Given the description of an element on the screen output the (x, y) to click on. 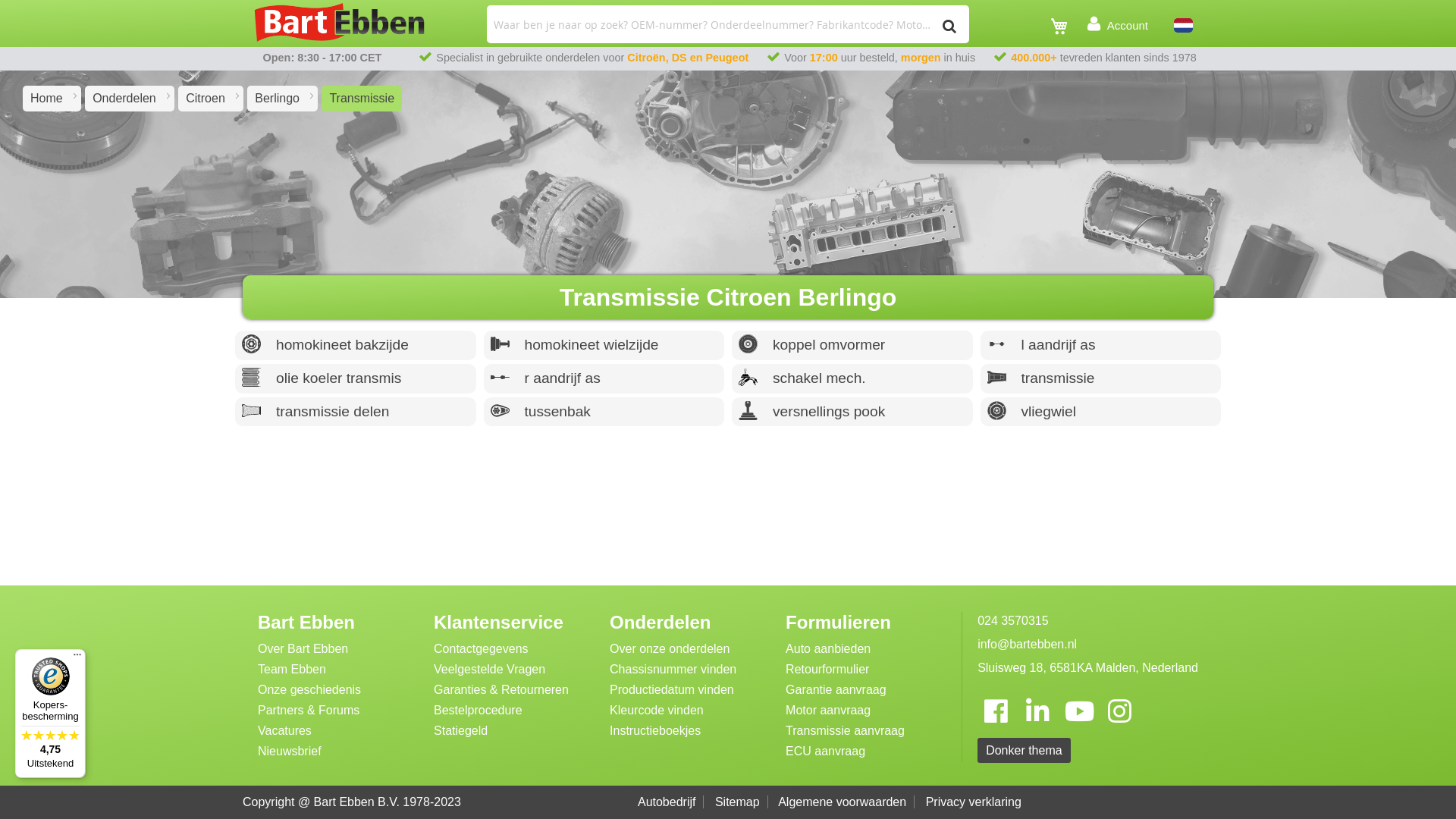
Account Element type: text (1117, 24)
Productiedatum vinden Element type: text (671, 689)
Team Ebben Element type: text (291, 669)
koppel omvormer Element type: text (851, 345)
Instructieboekjes Element type: text (654, 730)
delete Element type: hover (250, 376)
Partners & Forums Element type: text (308, 710)
Donker thema Element type: text (1023, 749)
tussenbak Element type: text (603, 411)
citroen Element type: text (205, 97)
berlingo Element type: text (276, 97)
transmissie delen Element type: text (355, 411)
ECU aanvraag Element type: text (825, 751)
Vacatures Element type: text (284, 730)
r aandrijf as Element type: text (603, 378)
Nieuwsbrief Element type: text (289, 751)
delete Element type: hover (996, 410)
Winkelwagen Element type: text (1062, 26)
Autobedrijf Element type: text (670, 801)
transmissie Element type: text (1099, 378)
delete Element type: hover (996, 376)
info@bartebben.nl Element type: text (1087, 646)
Statiegeld Element type: text (460, 730)
Auto aanbieden Element type: text (827, 649)
vliegwiel Element type: text (1099, 411)
olie koeler transmis Element type: text (355, 378)
delete Element type: hover (498, 376)
Transmissie aanvraag Element type: text (844, 730)
delete Element type: hover (498, 343)
delete Element type: hover (498, 410)
delete Element type: hover (747, 410)
Sluisweg 18, 6581KA Malden, Nederland Element type: text (1087, 670)
l aandrijf as Element type: text (1099, 345)
delete Element type: hover (250, 343)
Kleurcode vinden Element type: text (656, 710)
Garantie aanvraag Element type: text (835, 689)
onderdelen Element type: text (124, 97)
Contactgegevens Element type: text (480, 649)
delete Element type: hover (747, 343)
Algemene voorwaarden Element type: text (846, 801)
versnellings pook Element type: text (851, 411)
Retourformulier Element type: text (827, 669)
Motor aanvraag Element type: text (827, 710)
Over onze onderdelen Element type: text (669, 649)
homokineet wielzijde Element type: text (603, 345)
024 3570315 Element type: text (1087, 623)
delete Element type: hover (250, 410)
Chassisnummer vinden Element type: text (672, 669)
Privacy verklaring Element type: text (977, 801)
schakel mech. Element type: text (851, 378)
Over Bart Ebben Element type: text (302, 649)
homokineet bakzijde Element type: text (355, 345)
Sitemap Element type: text (741, 801)
Veelgestelde Vragen Element type: text (489, 669)
home Element type: text (46, 97)
delete Element type: hover (996, 343)
Garanties & Retourneren Element type: text (500, 689)
Bestelprocedure Element type: text (477, 710)
Onze geschiedenis Element type: text (308, 689)
delete Element type: hover (747, 376)
